Given the description of an element on the screen output the (x, y) to click on. 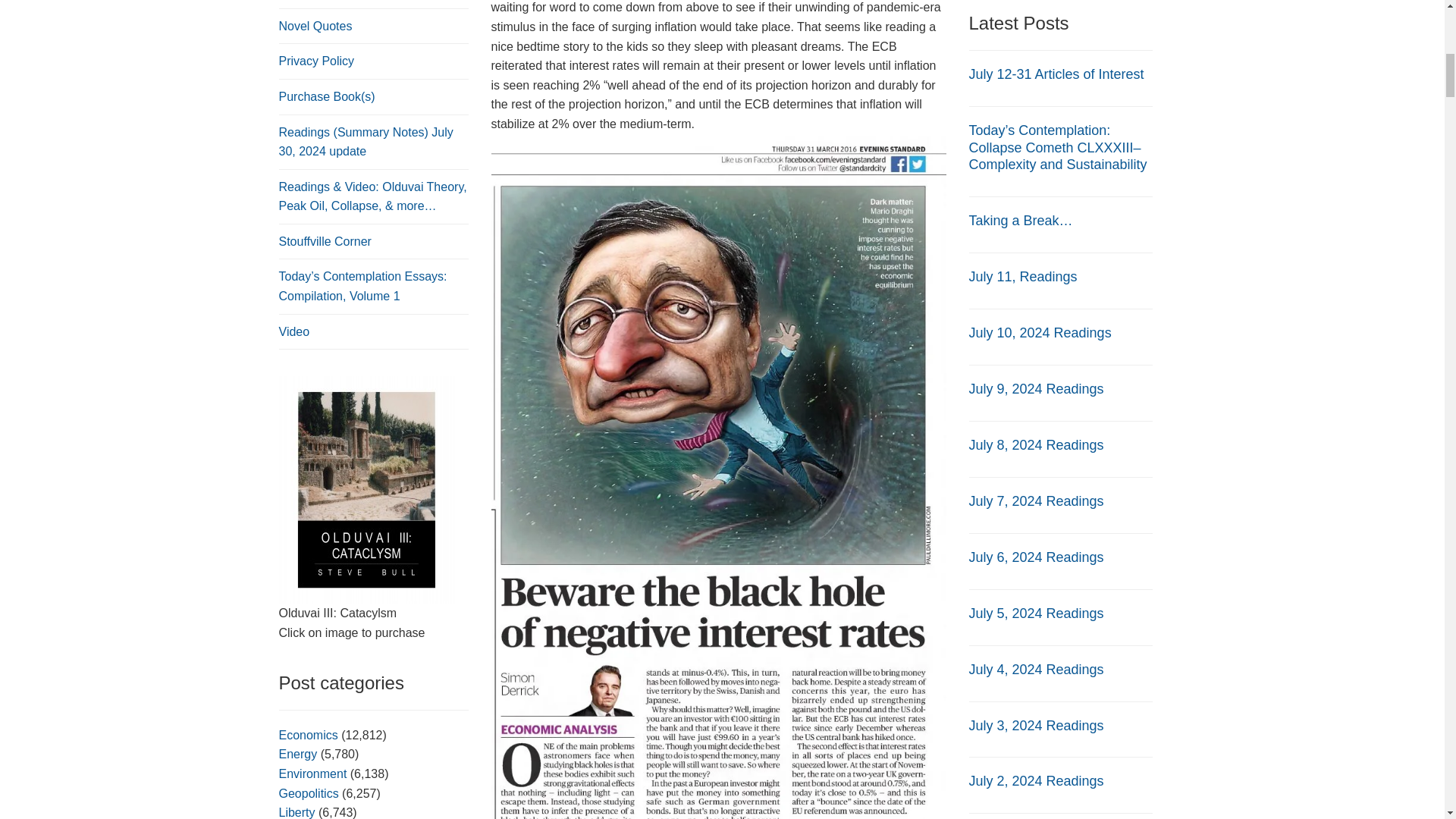
Privacy Policy (317, 60)
Novel Quotes (315, 25)
Liberty (297, 812)
Video (294, 331)
Economics (308, 735)
Energy (298, 753)
Stouffville Corner (325, 241)
Geopolitics (309, 793)
Environment (313, 773)
